Given the description of an element on the screen output the (x, y) to click on. 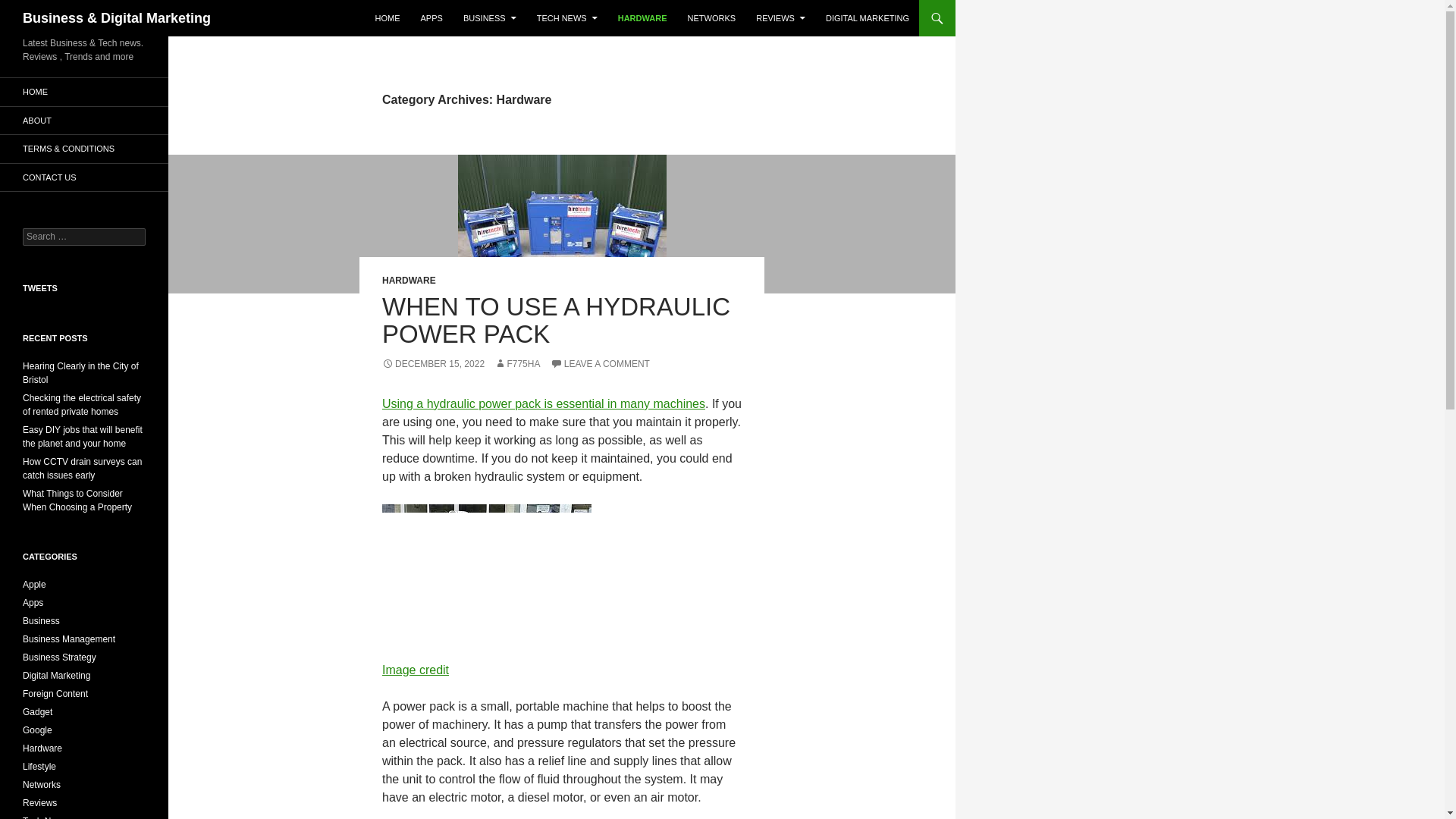
CONTACT US (84, 177)
Image credit (414, 669)
HARDWARE (642, 18)
TECH NEWS (567, 18)
ABOUT (84, 120)
APPS (431, 18)
NETWORKS (711, 18)
LEAVE A COMMENT (599, 363)
REVIEWS (779, 18)
Using a hydraulic power pack is essential in many machines (542, 403)
HOME (84, 91)
WHEN TO USE A HYDRAULIC POWER PACK (555, 320)
HOME (387, 18)
DECEMBER 15, 2022 (432, 363)
DIGITAL MARKETING (867, 18)
